Given the description of an element on the screen output the (x, y) to click on. 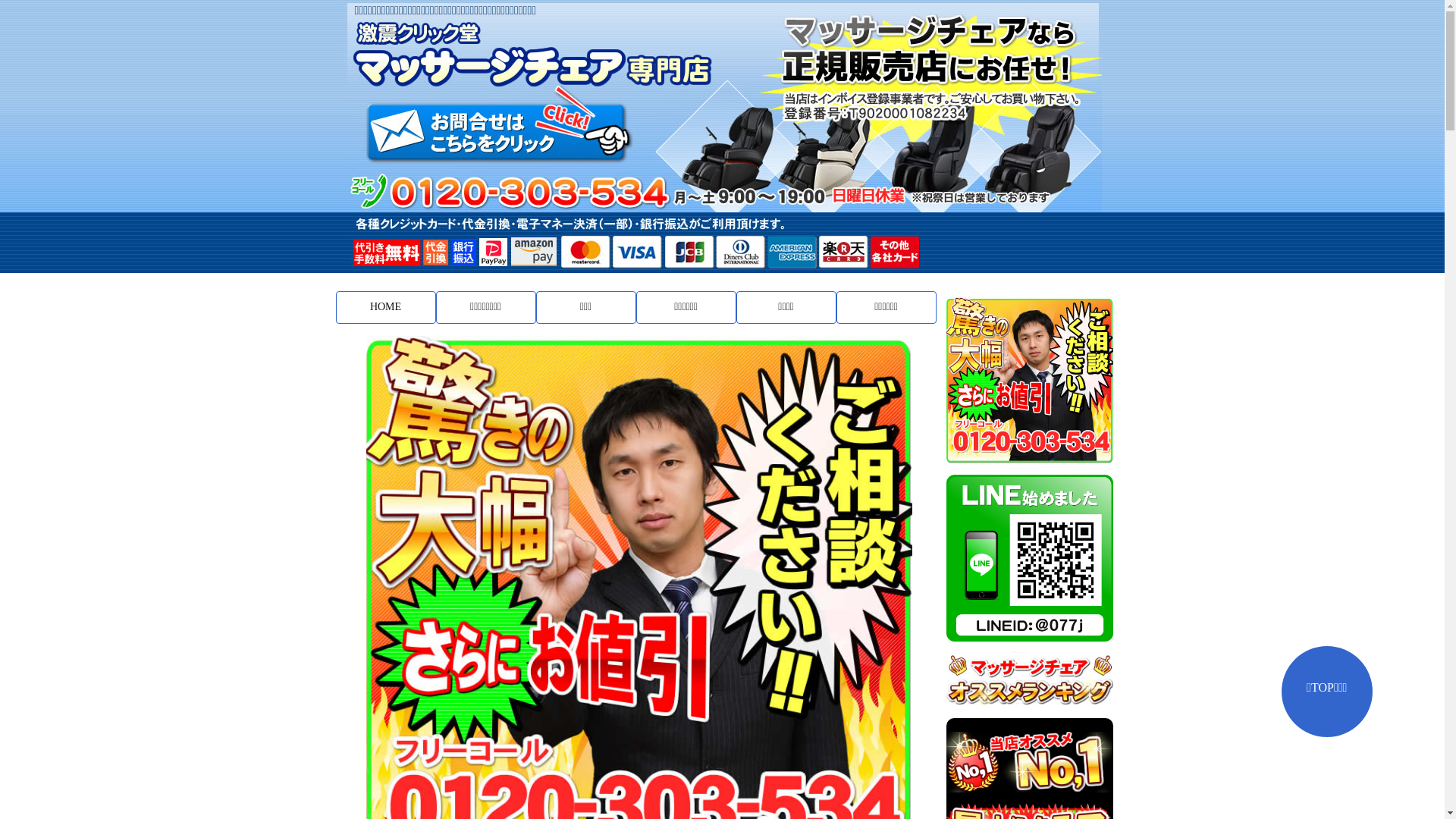
HOME Element type: text (385, 307)
